Given the description of an element on the screen output the (x, y) to click on. 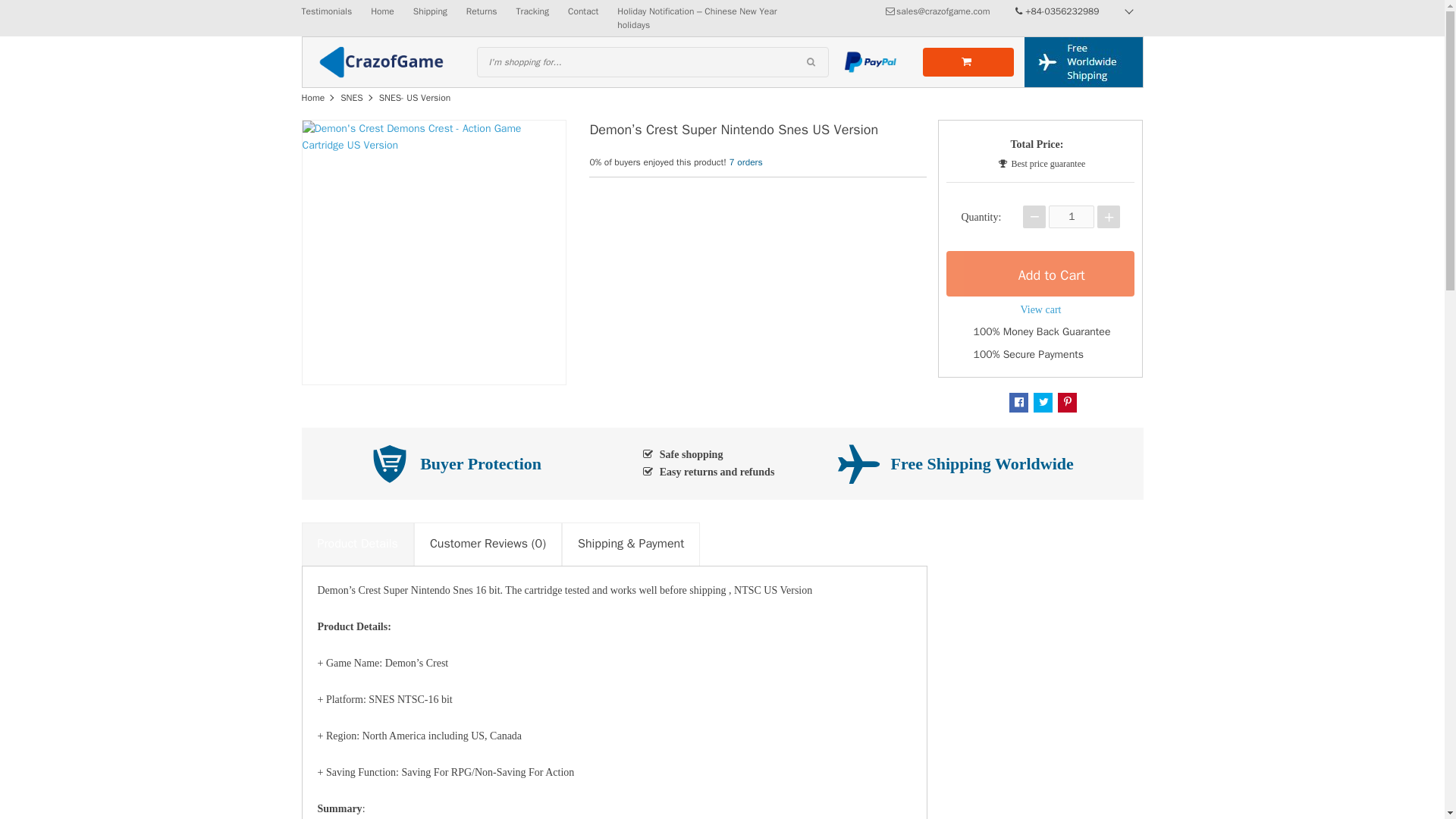
Returns (481, 11)
Tracking (532, 11)
Testimonials (326, 11)
1 (1071, 216)
Contact (582, 11)
Shipping (429, 11)
Home (382, 11)
